Given the description of an element on the screen output the (x, y) to click on. 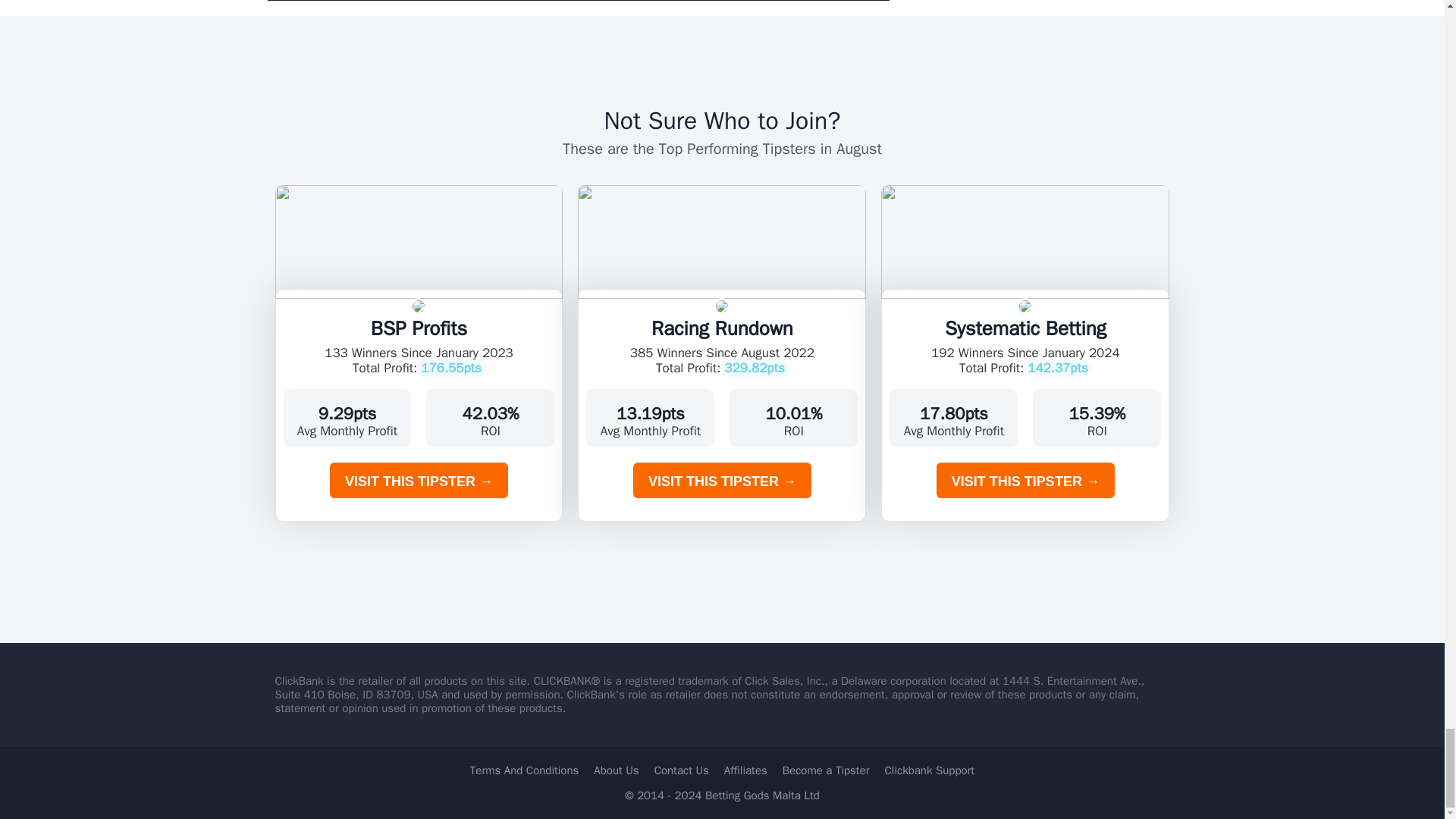
Become a Tipster (826, 770)
Contact Us (681, 770)
Affiliates (745, 770)
Clickbank Support (930, 770)
Terms And Conditions (524, 770)
About Us (616, 770)
